Given the description of an element on the screen output the (x, y) to click on. 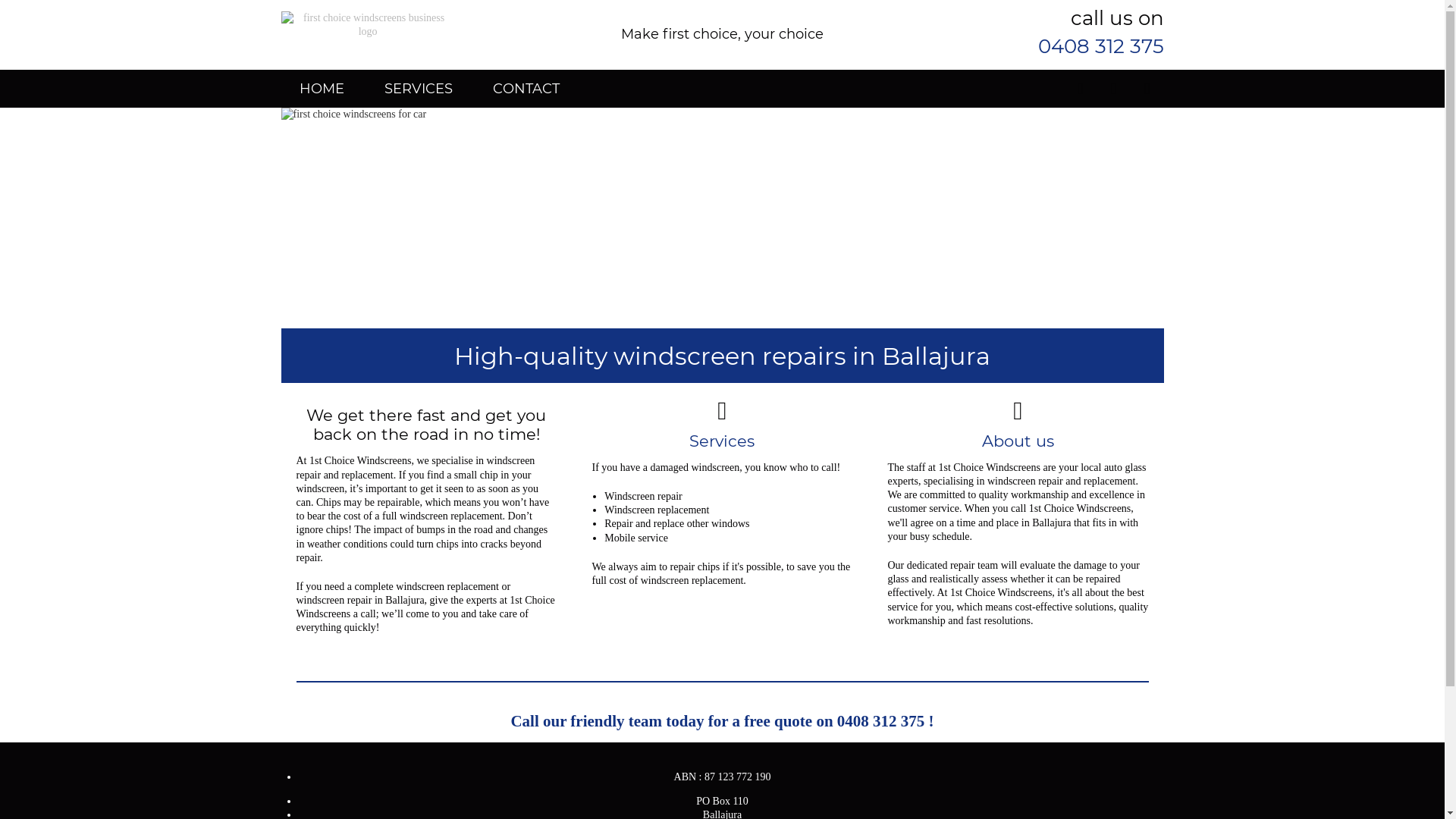
first choice windscreens business logo Element type: hover (367, 24)
HOME Element type: text (320, 88)
SERVICES Element type: text (417, 88)
first choice windscreens for car Element type: hover (721, 217)
0408 312 375 Element type: text (881, 721)
0408 312 375 Element type: text (1100, 46)
CONTACT Element type: text (525, 88)
